Given the description of an element on the screen output the (x, y) to click on. 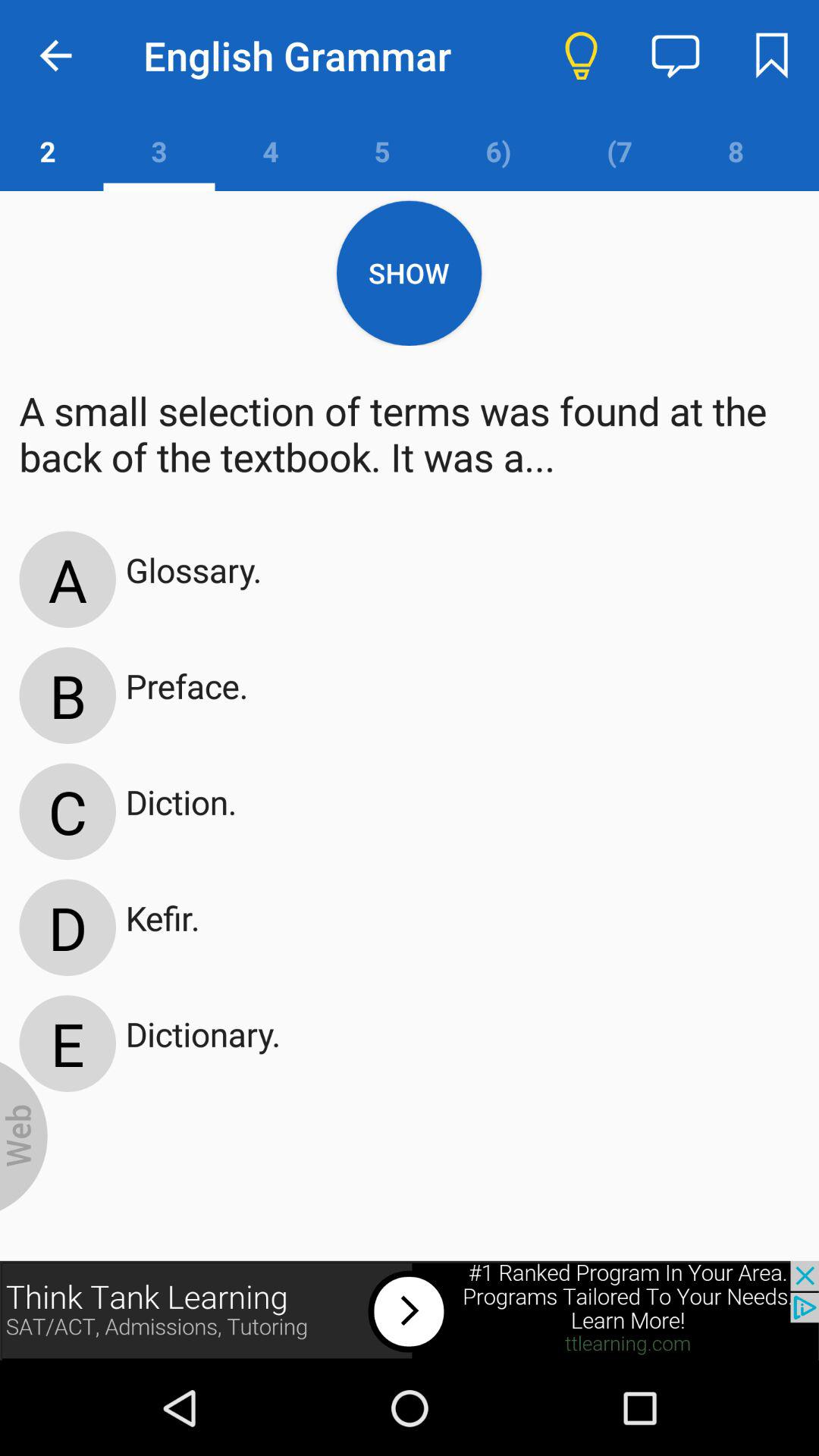
go to wed box (23, 1135)
